Given the description of an element on the screen output the (x, y) to click on. 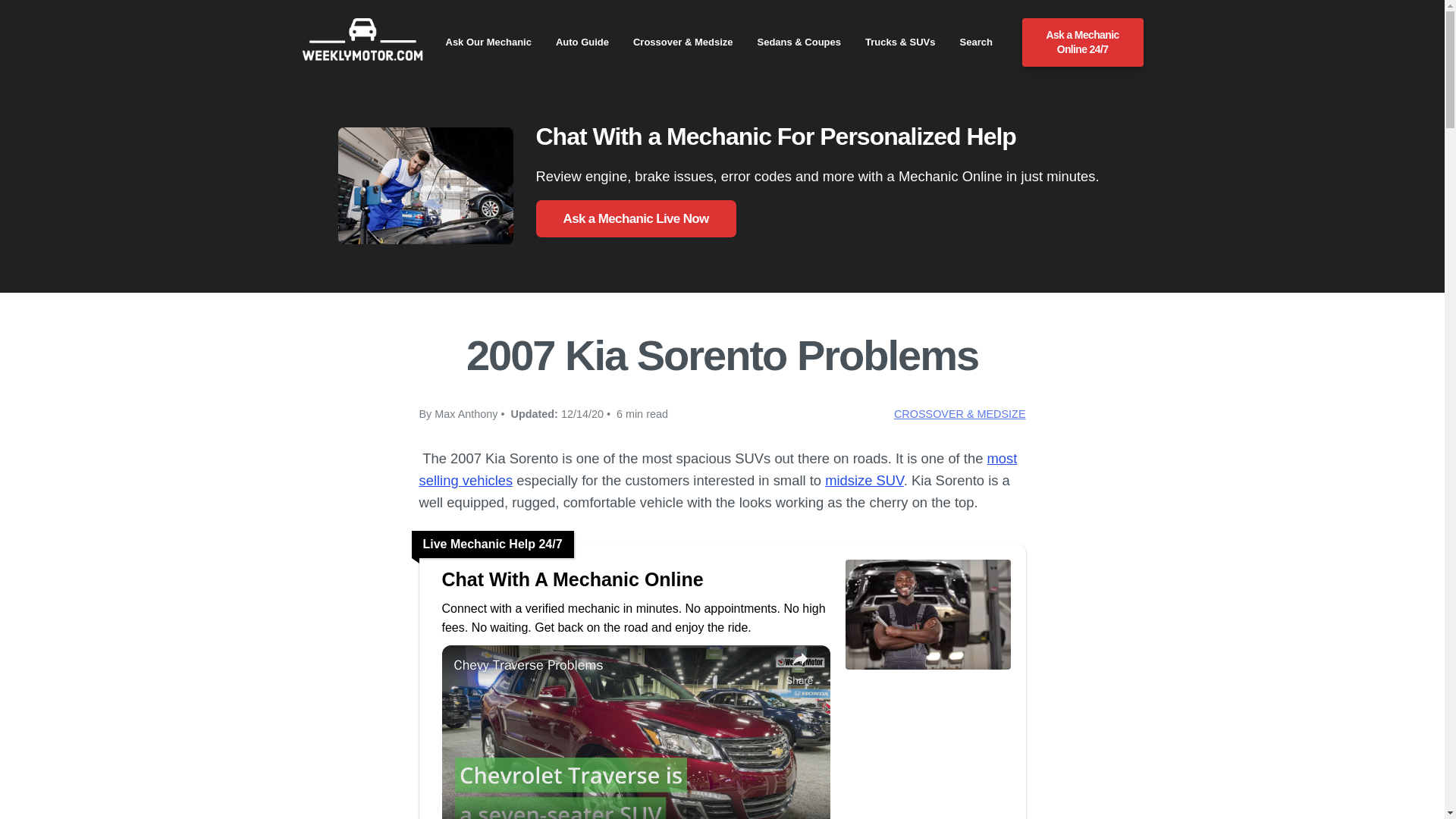
Chevy Traverse Problems (614, 665)
Chat With A Mechanic Online (635, 579)
Auto Guide (582, 42)
Ask a Mechanic Live Now (635, 218)
most selling vehicles (717, 469)
Ask Our Mechanic (488, 42)
share (799, 667)
Chat With A Mechanic Online (635, 579)
Search (975, 42)
midsize SUV (864, 480)
Share (799, 667)
Chat With A Mechanic Online (927, 668)
